Given the description of an element on the screen output the (x, y) to click on. 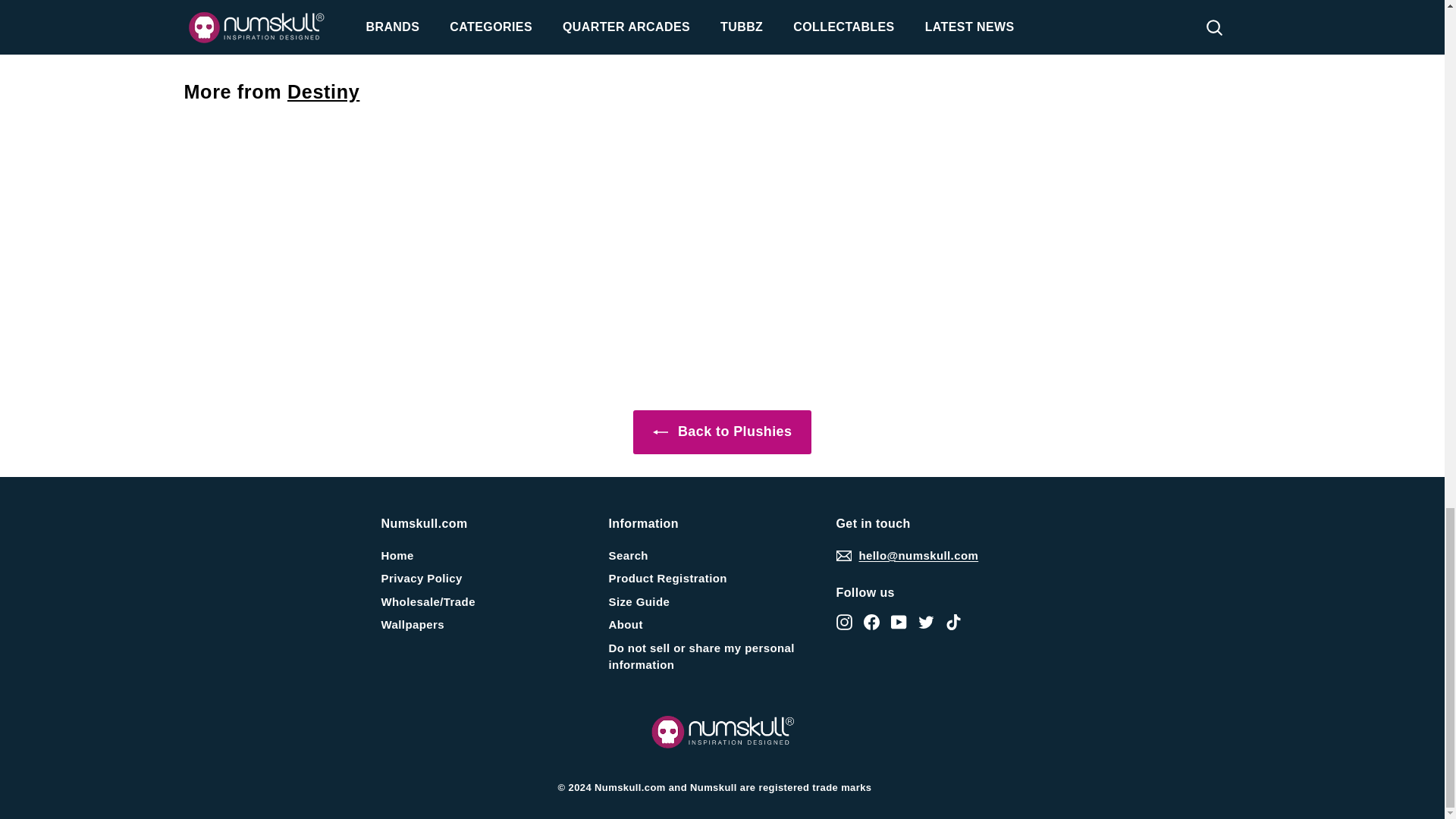
Numskull.com on YouTube (897, 621)
Destiny (322, 91)
Numskull.com on Twitter (925, 621)
Numskull.com on Facebook (871, 621)
Numskull.com on TikTok (952, 621)
Numskull.com on Instagram (843, 621)
